Given the description of an element on the screen output the (x, y) to click on. 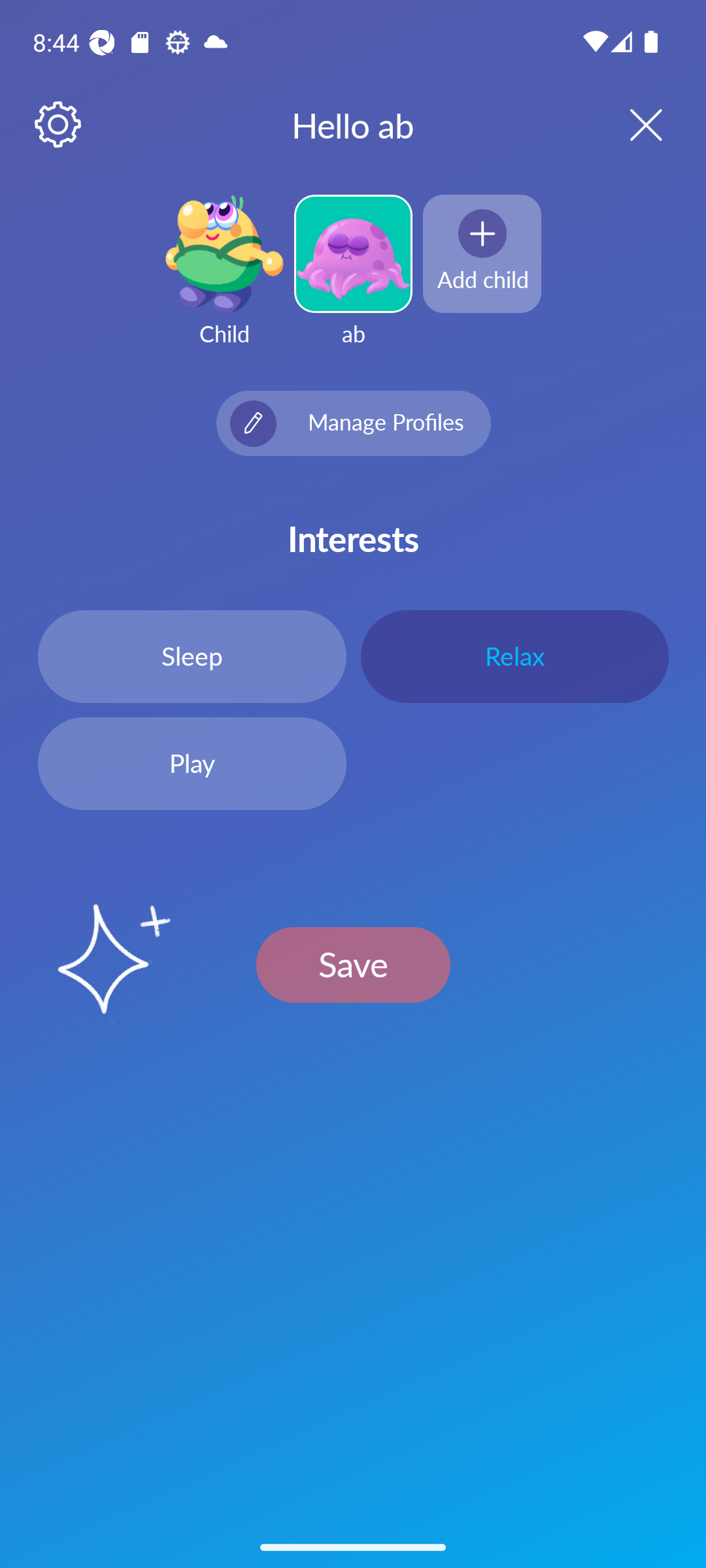
Close (629, 124)
Settings (58, 125)
Child (224, 282)
ab (353, 282)
Add child (481, 253)
icon Manage Profiles (353, 423)
Sleep (192, 655)
Relax (514, 655)
Play (192, 764)
Save (353, 964)
